Given the description of an element on the screen output the (x, y) to click on. 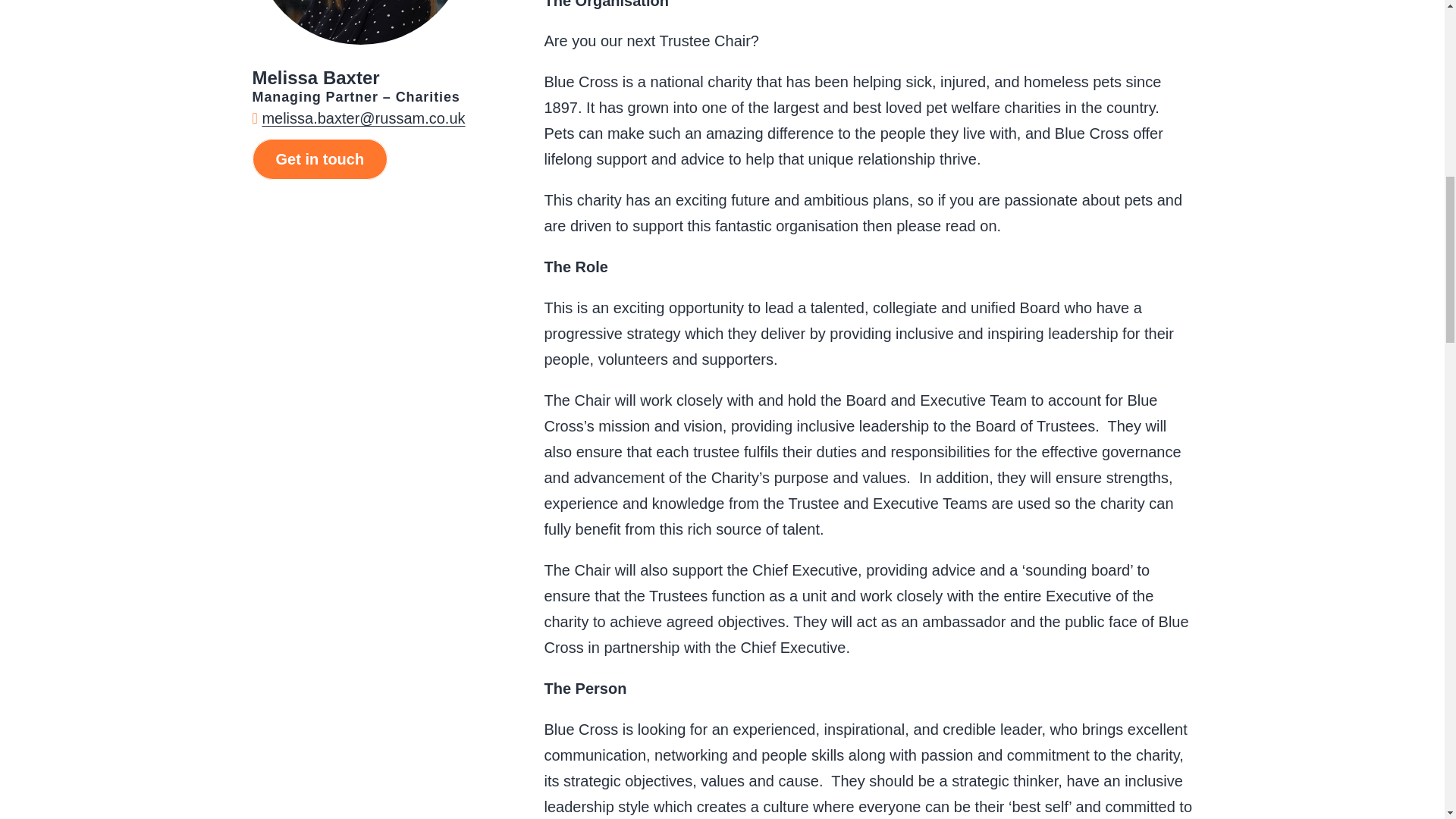
Get in touch (319, 158)
